Given the description of an element on the screen output the (x, y) to click on. 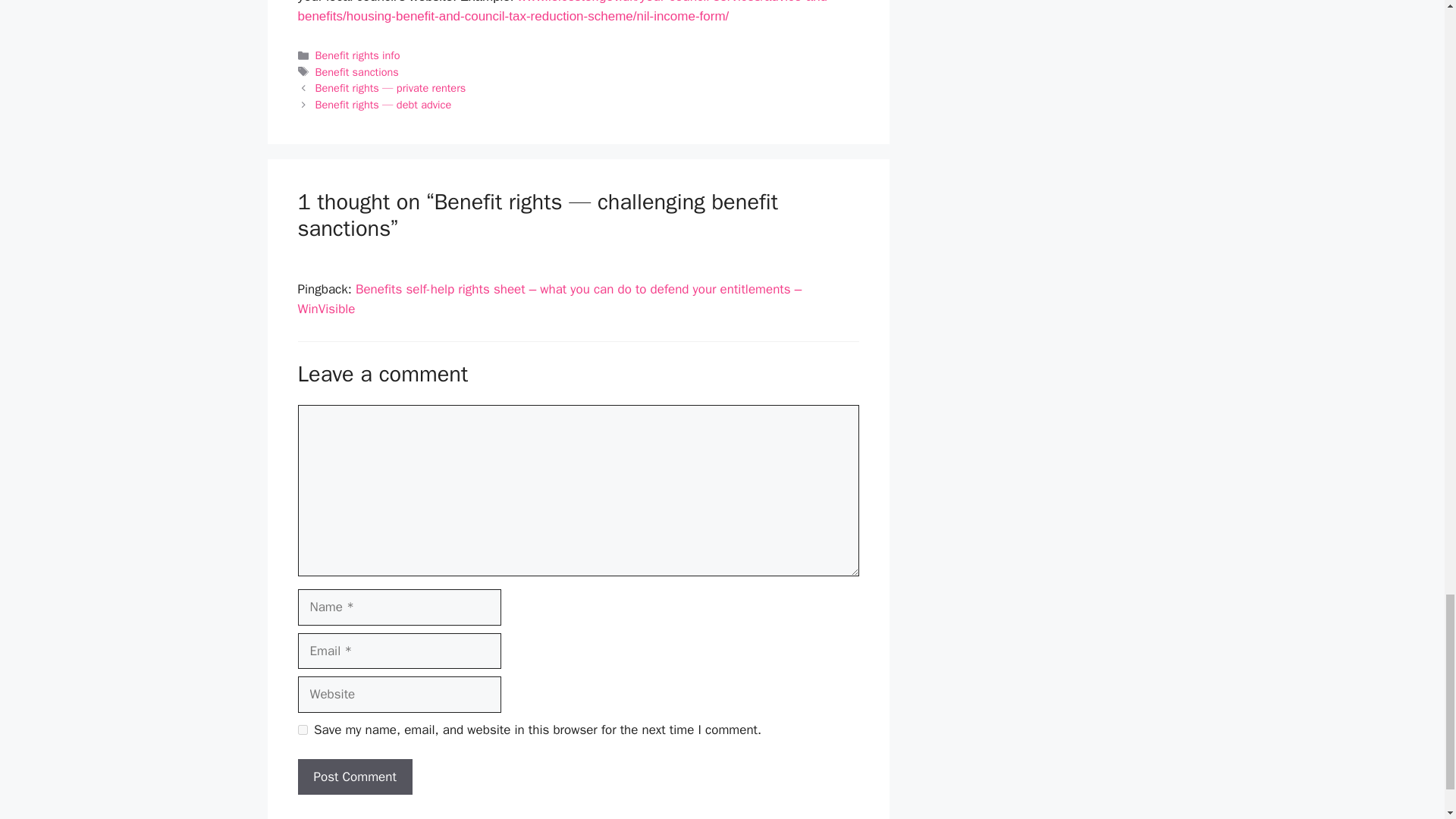
Post Comment (354, 777)
Post Comment (354, 777)
yes (302, 729)
Benefit sanctions (356, 71)
Benefit rights info (357, 55)
